Given the description of an element on the screen output the (x, y) to click on. 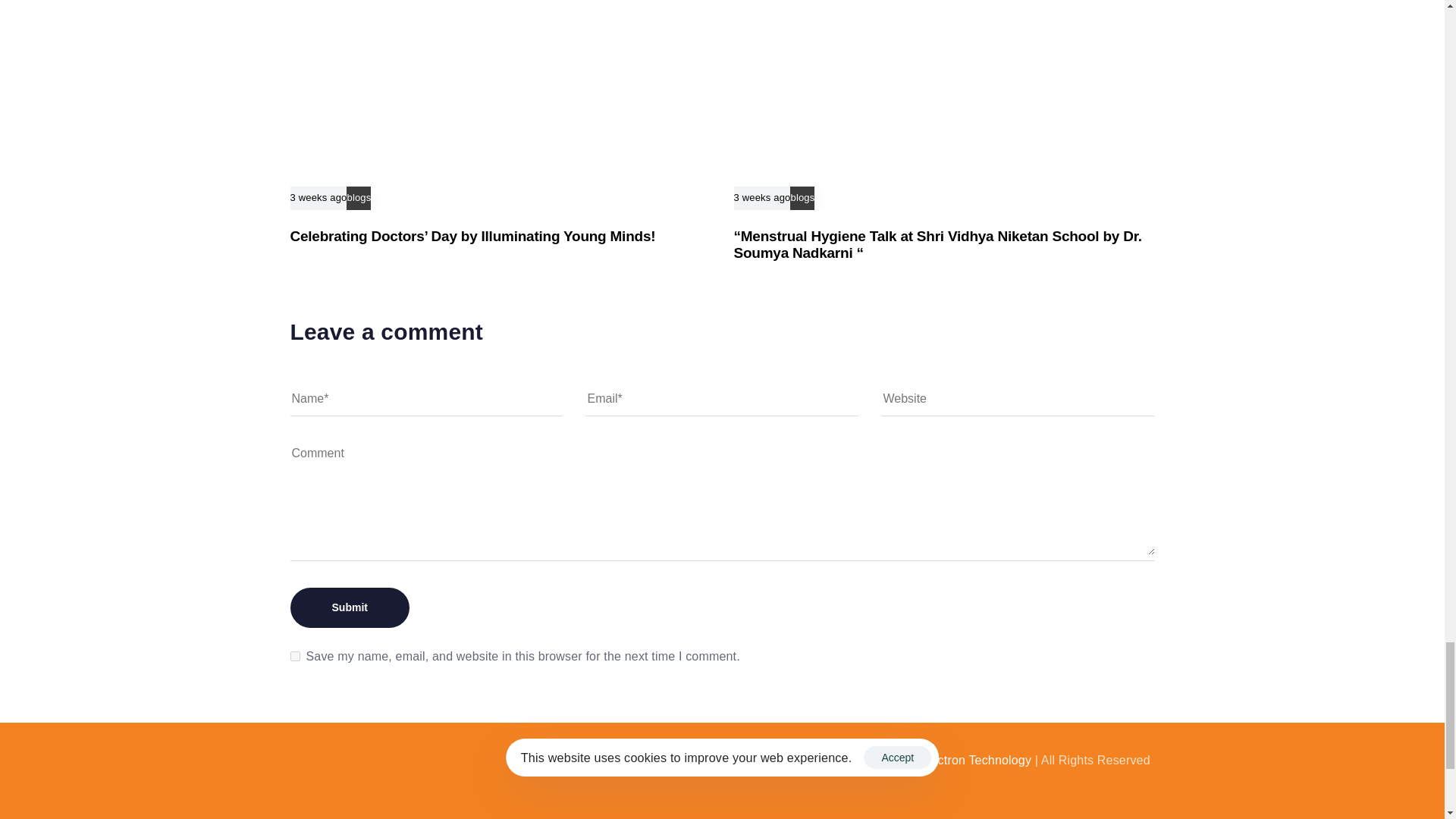
blogs (358, 197)
yes (294, 655)
Submit (349, 608)
